Given the description of an element on the screen output the (x, y) to click on. 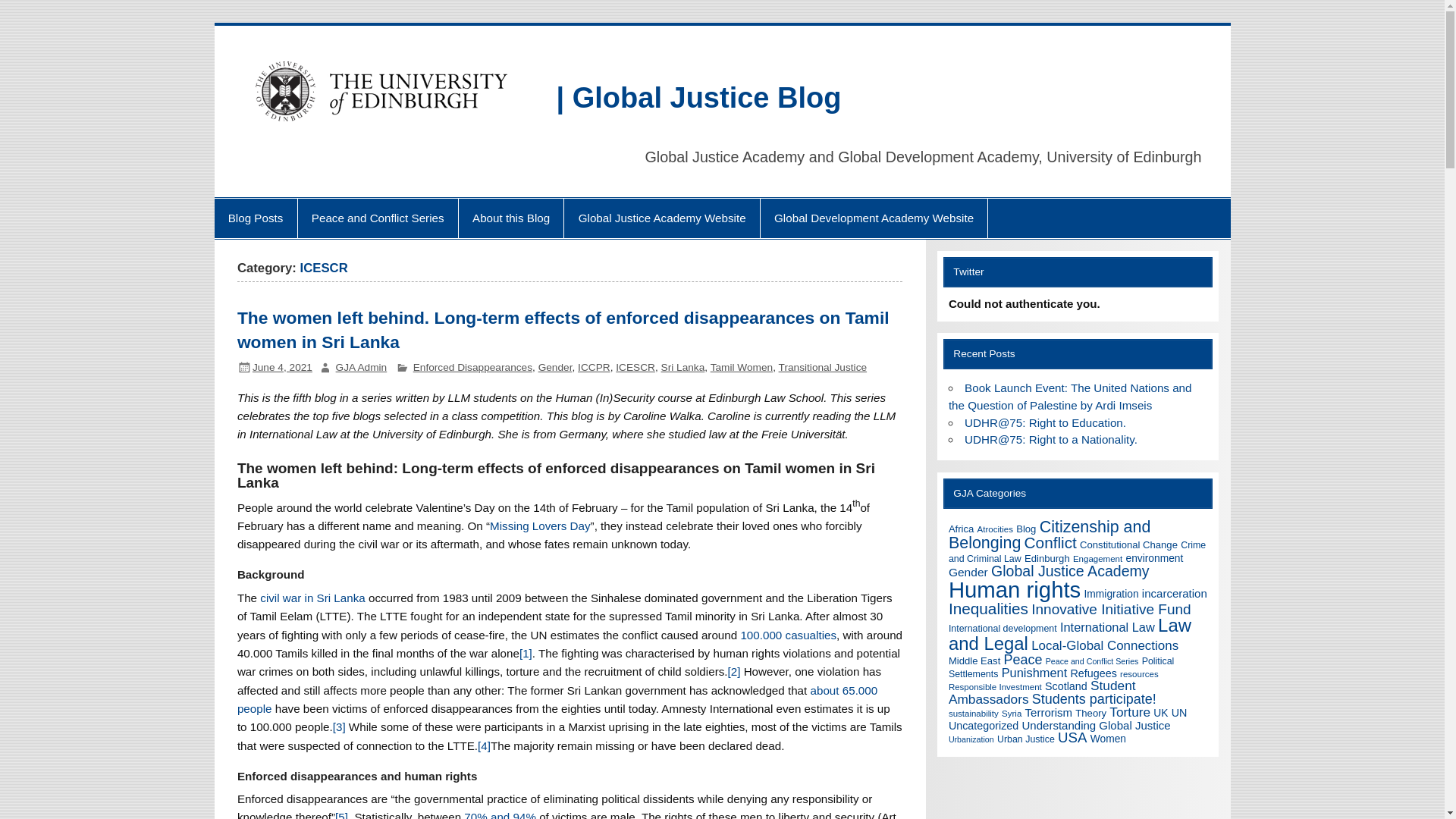
Enforced Disappearances (472, 367)
ICESCR (635, 367)
Sri Lanka (682, 367)
About this Blog (511, 218)
Tamil Women (741, 367)
civil war in Sri Lanka (312, 597)
100.000 casualties (787, 634)
June 4, 2021 (282, 367)
Missing Lovers Day (540, 525)
Global Development Academy Website (874, 218)
ICCPR (594, 367)
GJA Admin (361, 367)
Transitional Justice (822, 367)
